Given the description of an element on the screen output the (x, y) to click on. 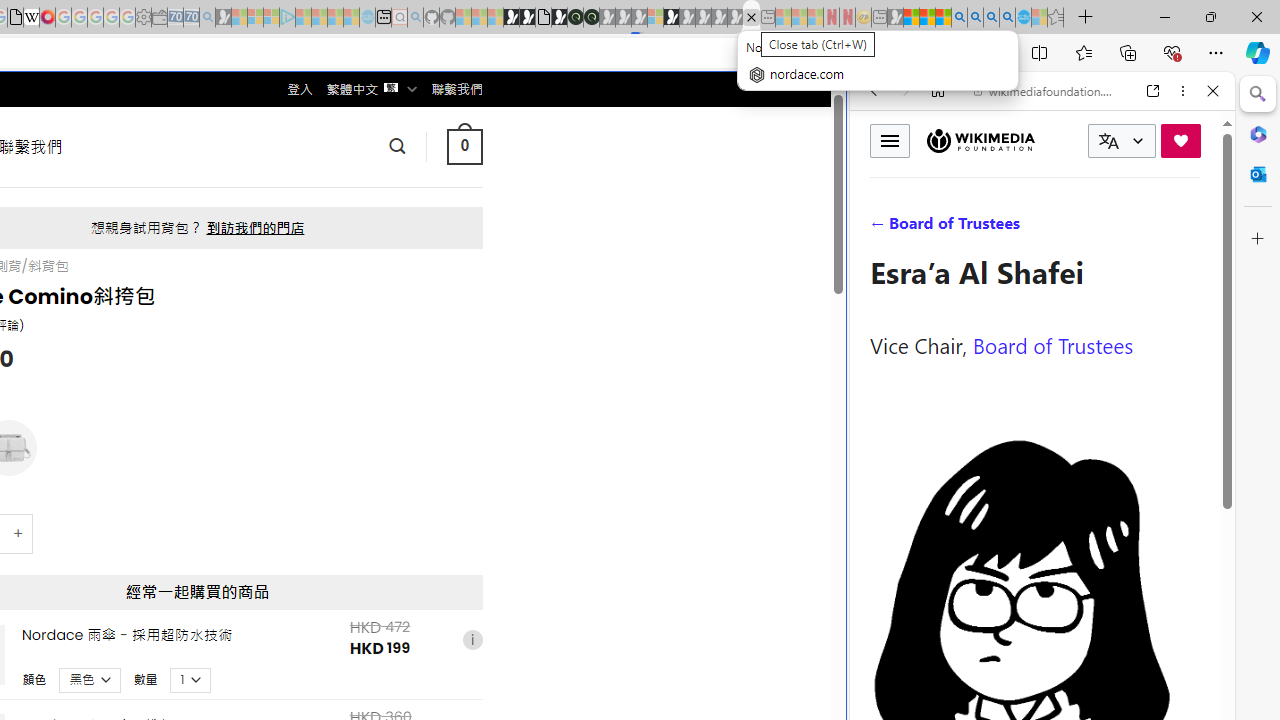
Board of Trustees (1053, 344)
Wikimedia Foundation (980, 140)
New Tab (1085, 17)
Browser essentials (1171, 52)
Settings - Sleeping (143, 17)
MediaWiki (47, 17)
Wiktionary (1034, 669)
Class: upsell-v2-product-upsell-variable-product-qty-select (191, 679)
